Given the description of an element on the screen output the (x, y) to click on. 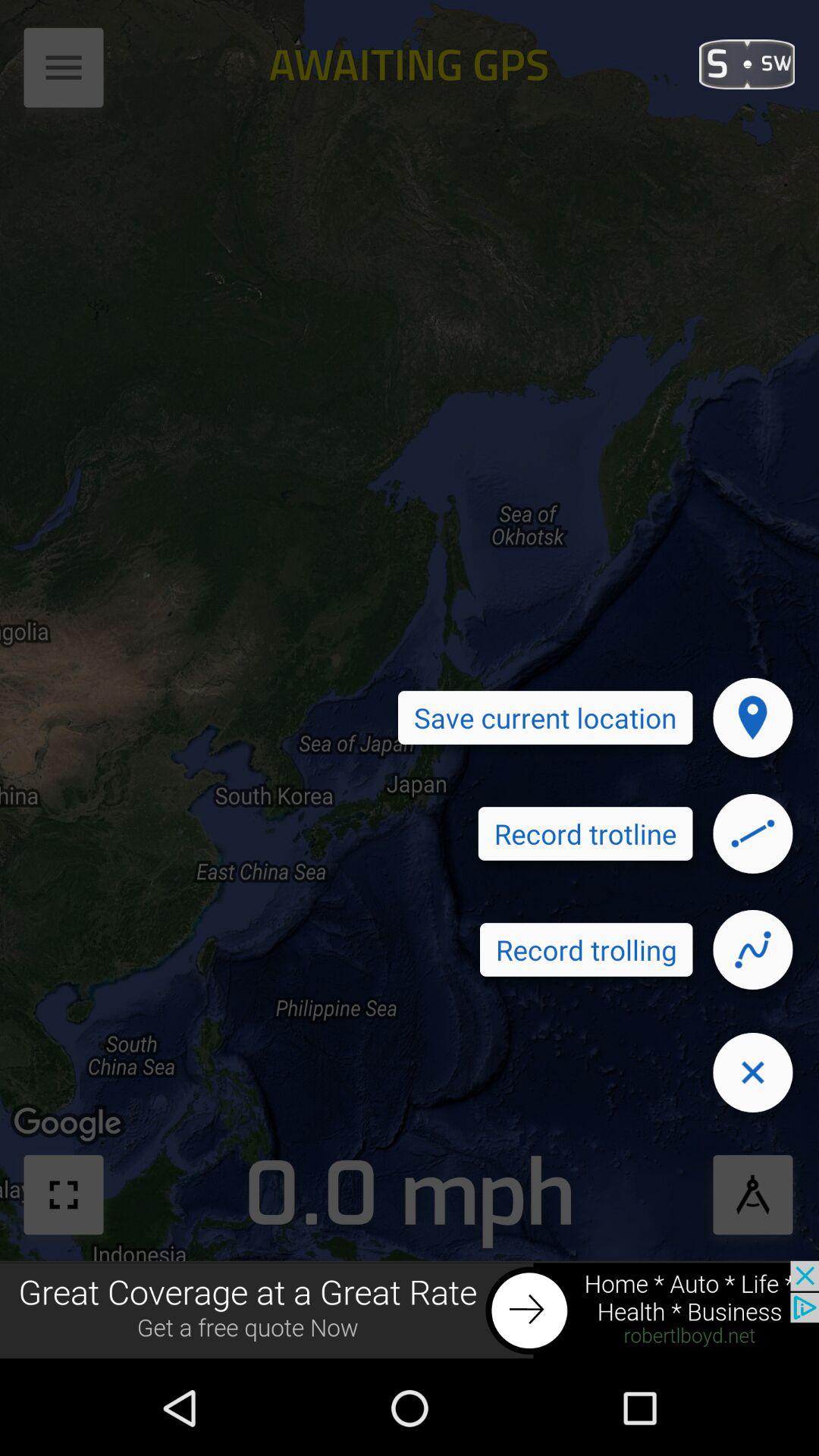
draw the line (752, 833)
